Given the description of an element on the screen output the (x, y) to click on. 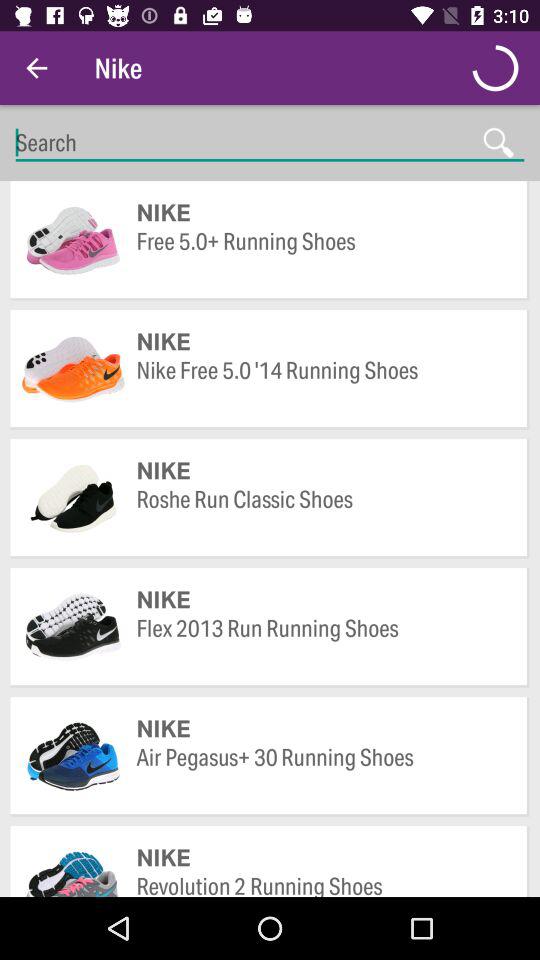
click revolution 2 running icon (322, 884)
